Given the description of an element on the screen output the (x, y) to click on. 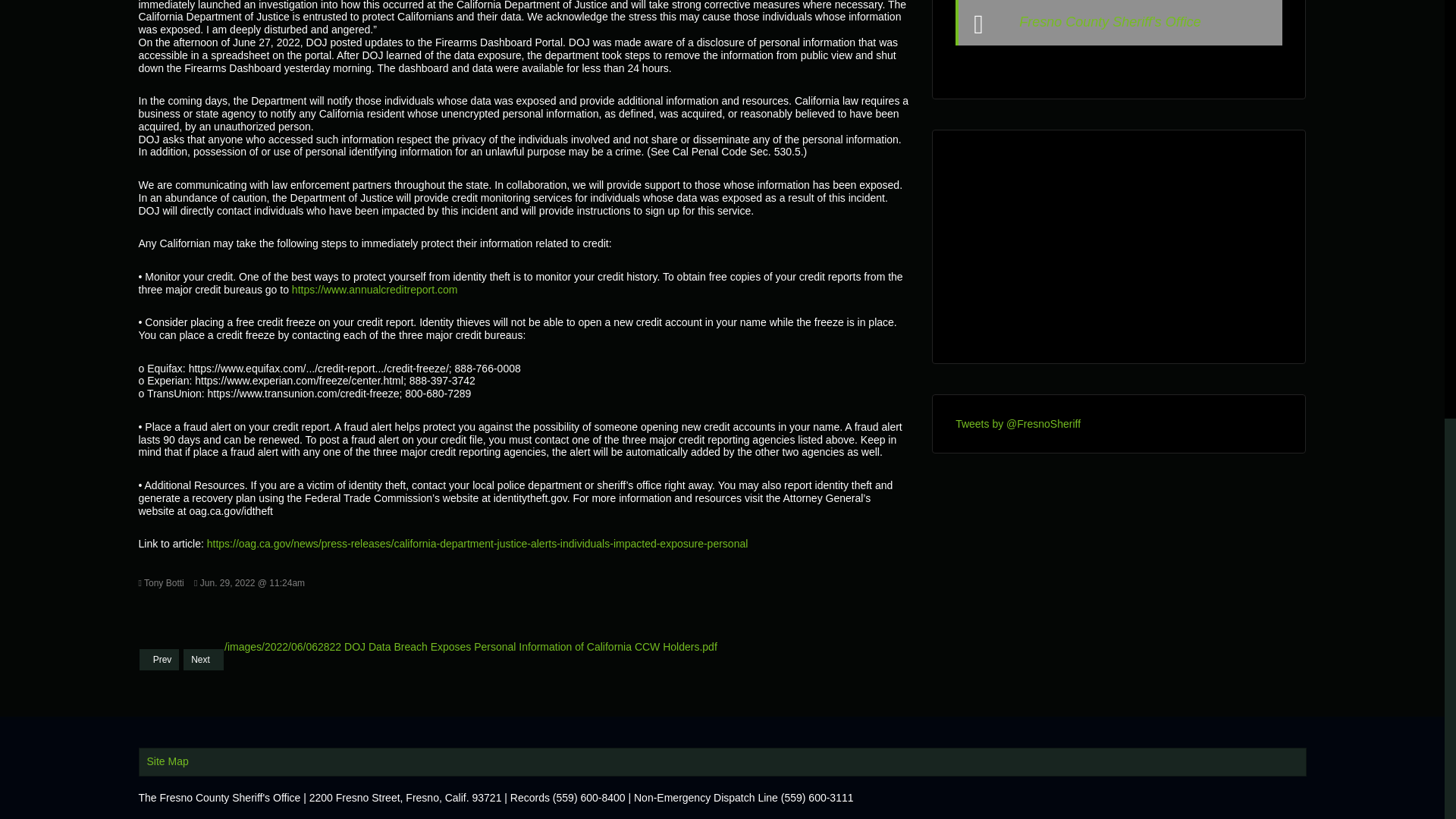
Written by:  (160, 583)
Back to Top (1414, 3)
Published:  (248, 583)
